Given the description of an element on the screen output the (x, y) to click on. 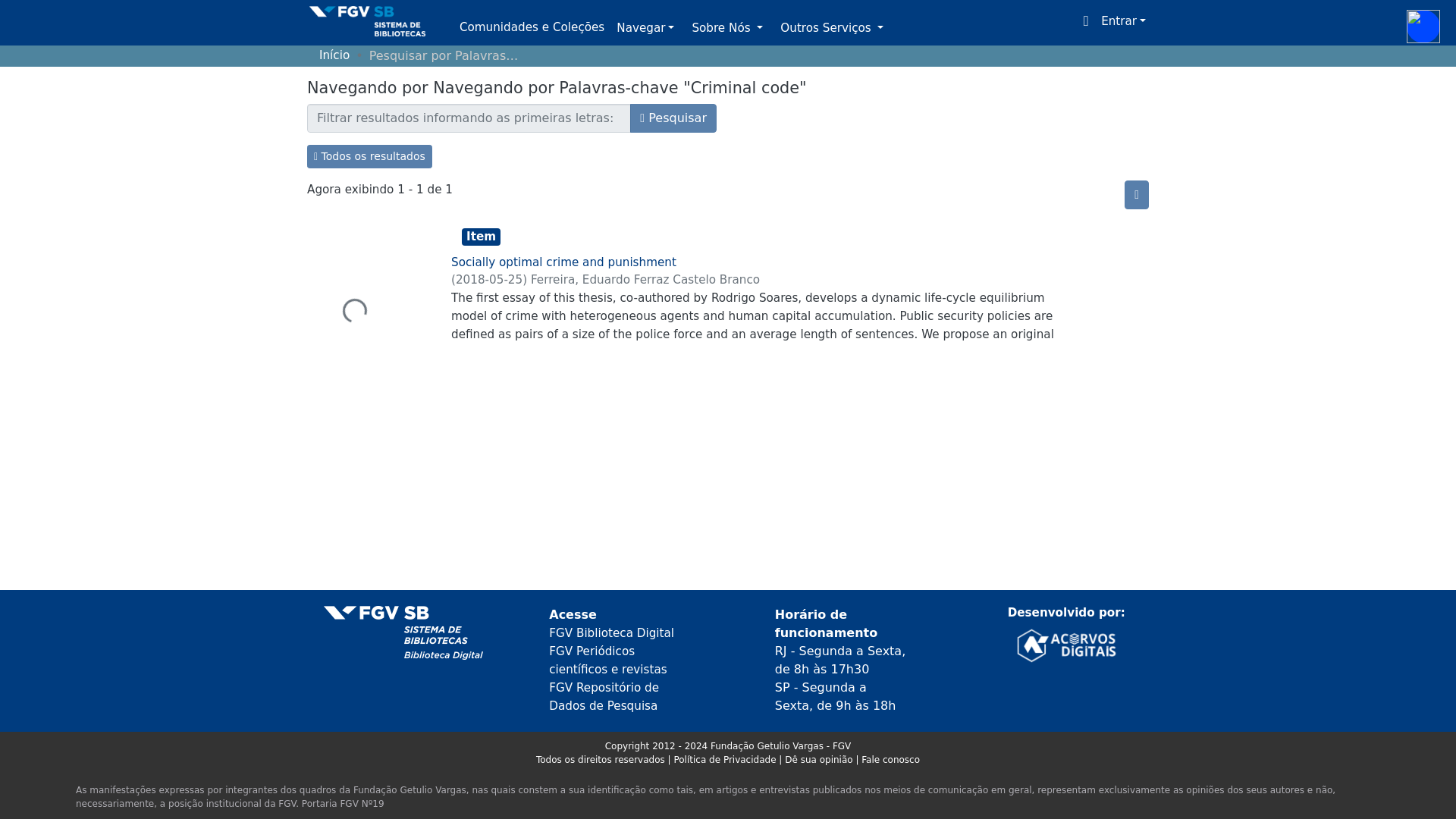
Todos os resultados (369, 156)
Pesquisar (673, 118)
Selecionar um idioma (1085, 21)
Entrar (1122, 20)
Accessibility Menu (1422, 26)
Navegar (644, 28)
